Given the description of an element on the screen output the (x, y) to click on. 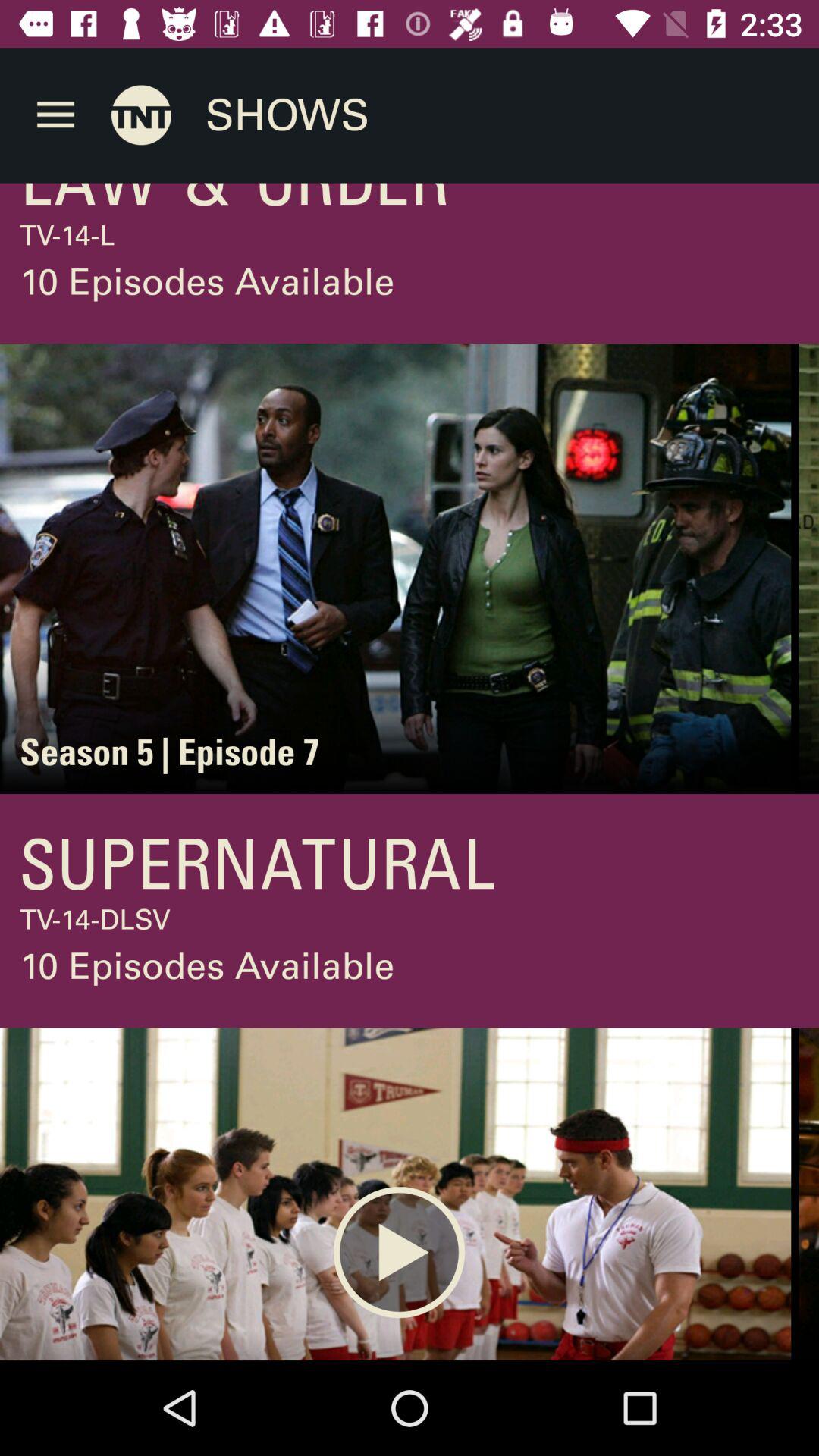
go to tnt page (141, 115)
